Given the description of an element on the screen output the (x, y) to click on. 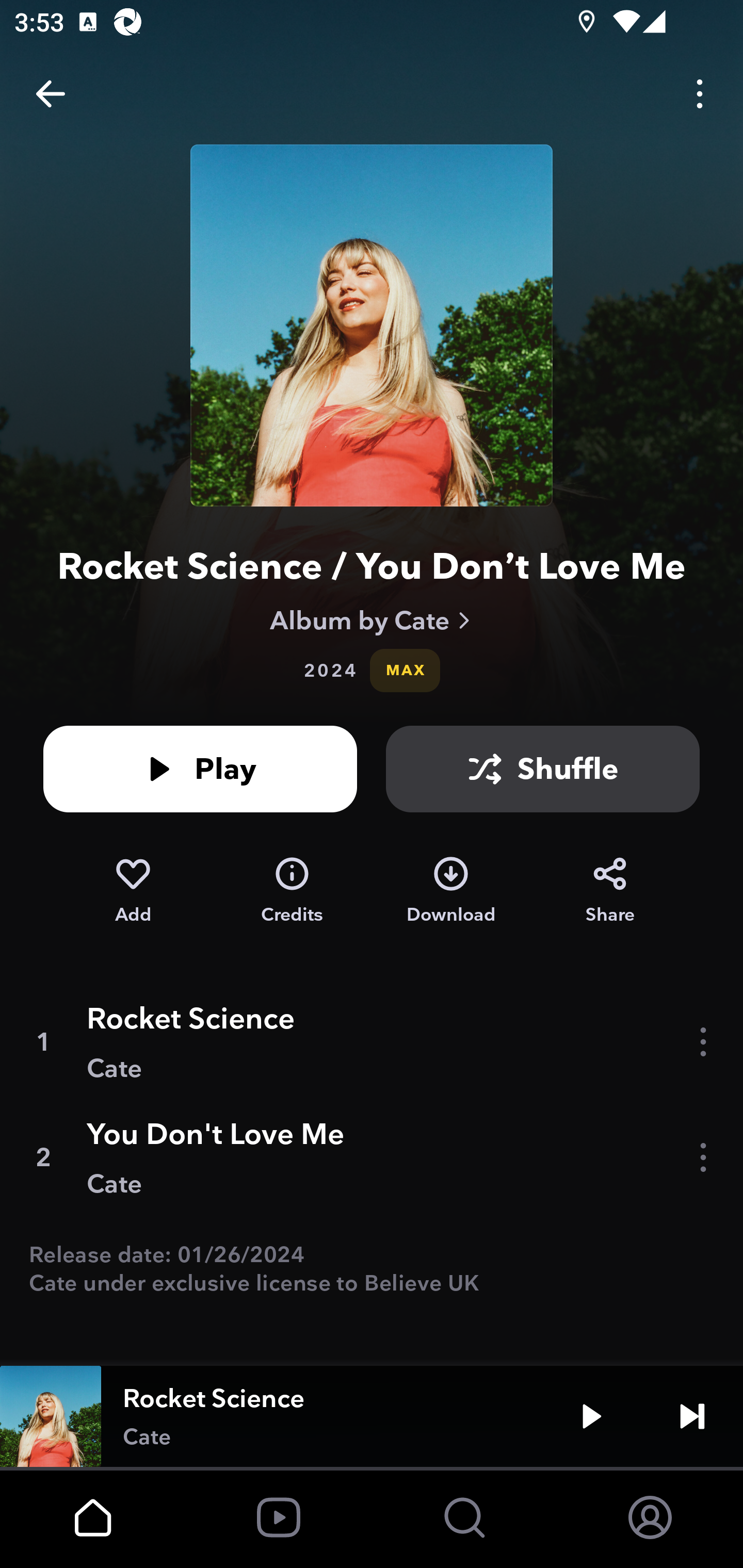
Options (699, 93)
Rocket Science / You Don’t Love Me (371, 565)
Album by Cate (371, 619)
Play (200, 768)
Shuffle (542, 768)
Add to My Collection Add (132, 890)
Credits (291, 890)
Download (450, 890)
Share (609, 890)
1 Rocket Science Cate (371, 1041)
2 You Don't Love Me Cate (371, 1157)
Rocket Science Cate Play (371, 1416)
Play (590, 1416)
